Given the description of an element on the screen output the (x, y) to click on. 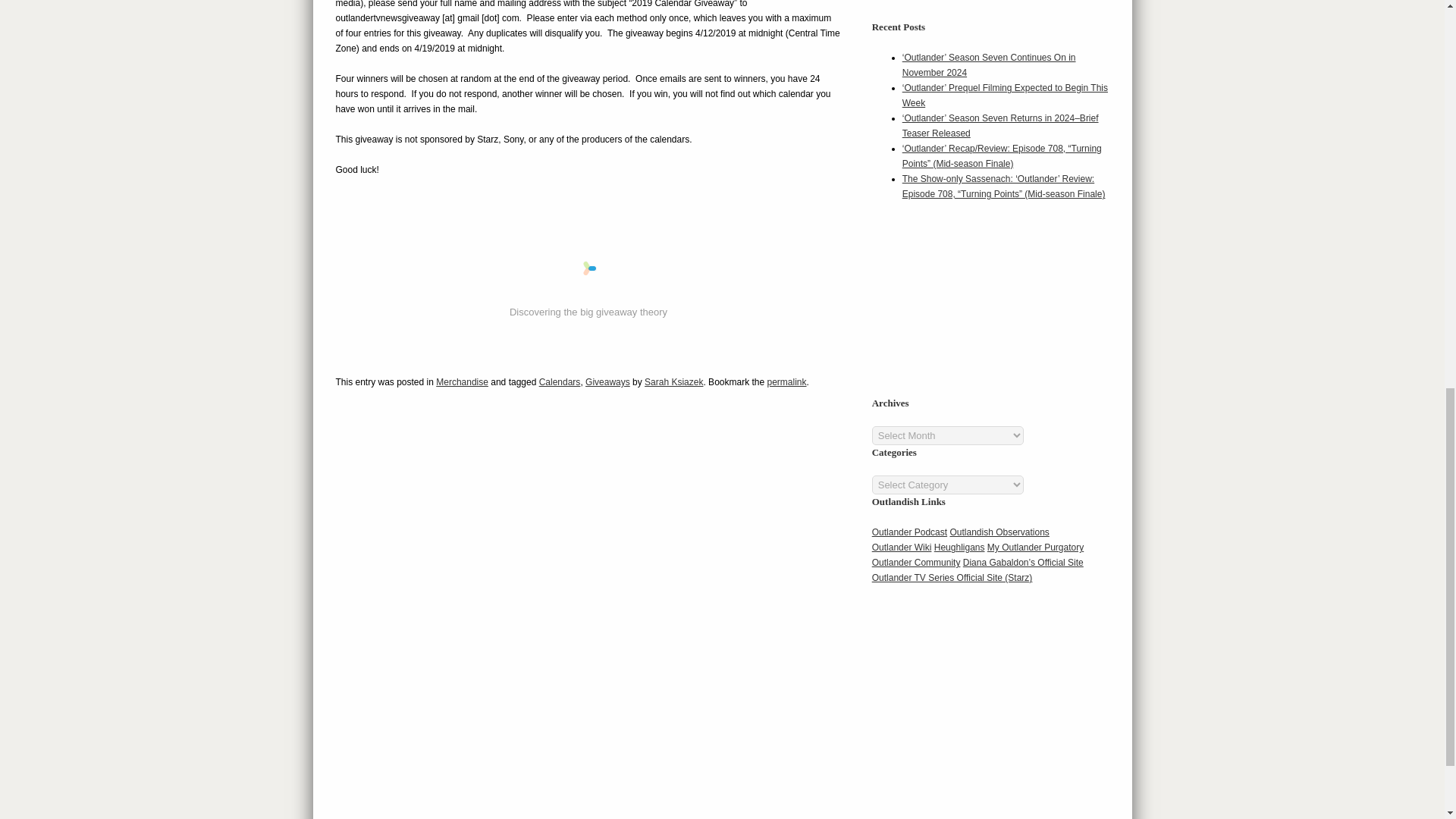
Calendars (559, 381)
Outlander Community (916, 562)
Outlander Podcast (909, 532)
Heughligans (959, 547)
Sarah Ksiazek (674, 381)
Giveaways (607, 381)
Merchandise (461, 381)
My Outlander Purgatory (1035, 547)
Outlander Wiki (901, 547)
permalink (786, 381)
Outlandish Observations (998, 532)
